Given the description of an element on the screen output the (x, y) to click on. 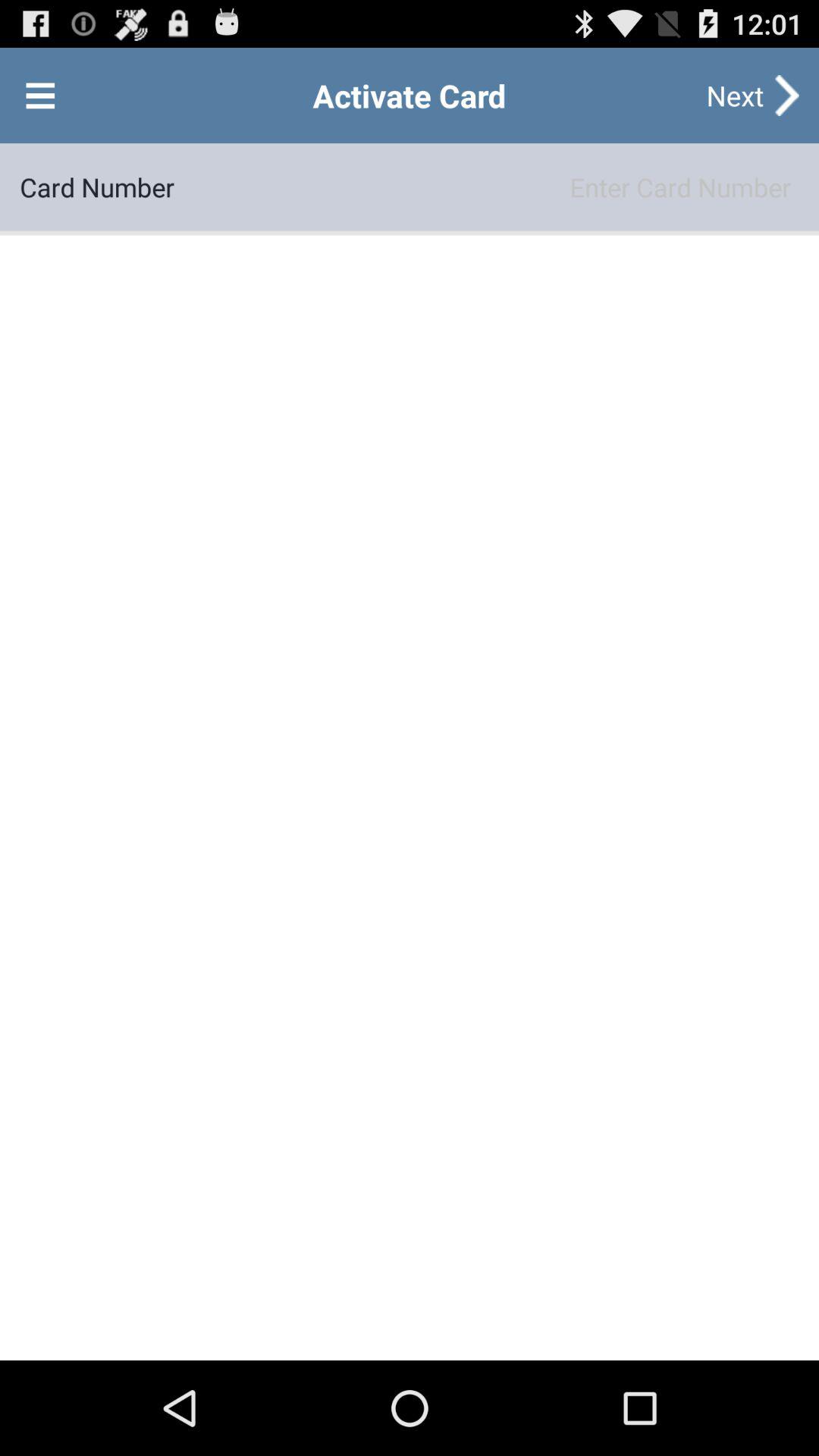
click button below the next button (486, 186)
